Given the description of an element on the screen output the (x, y) to click on. 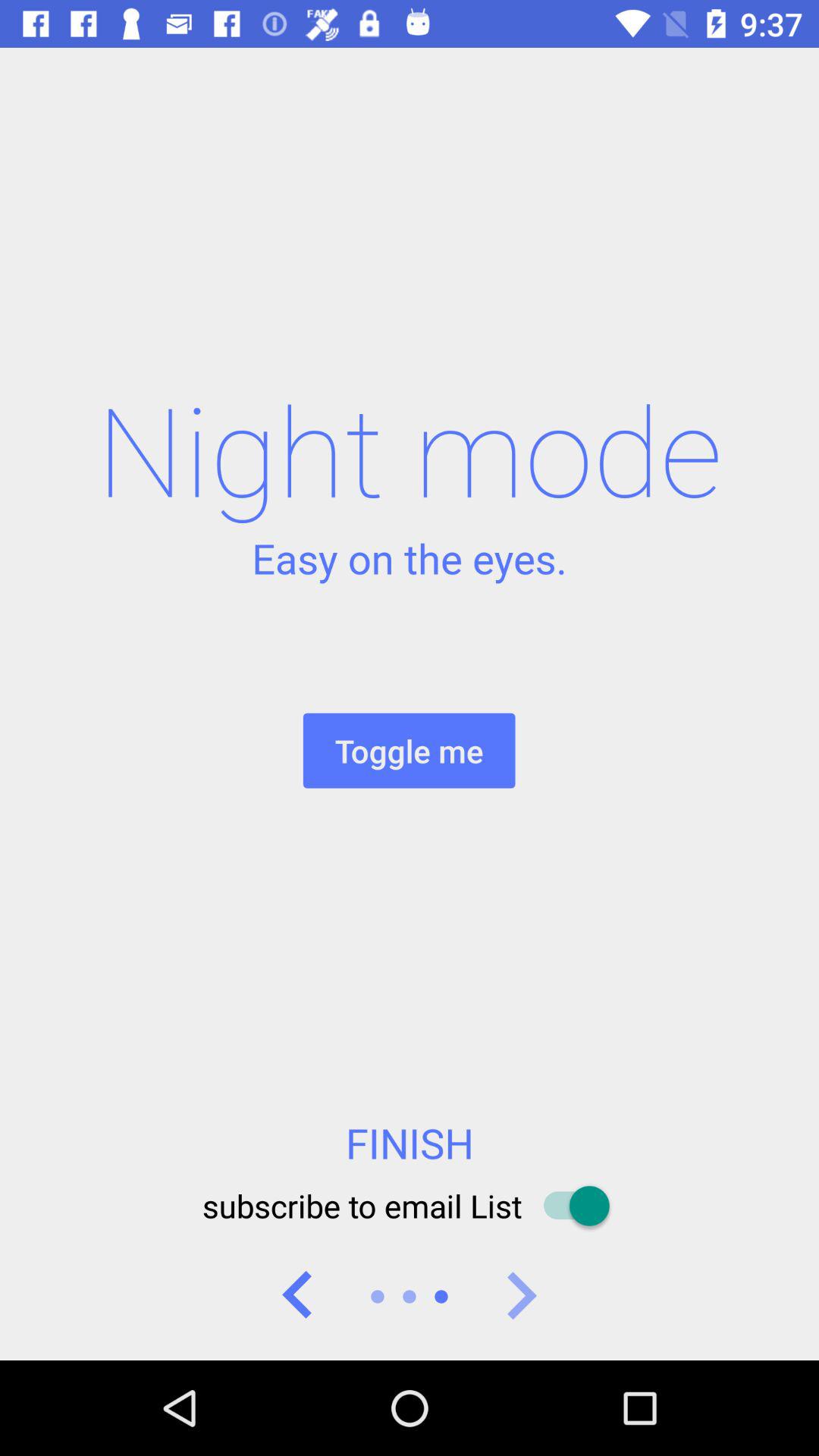
scroll to the toggle me (409, 750)
